Given the description of an element on the screen output the (x, y) to click on. 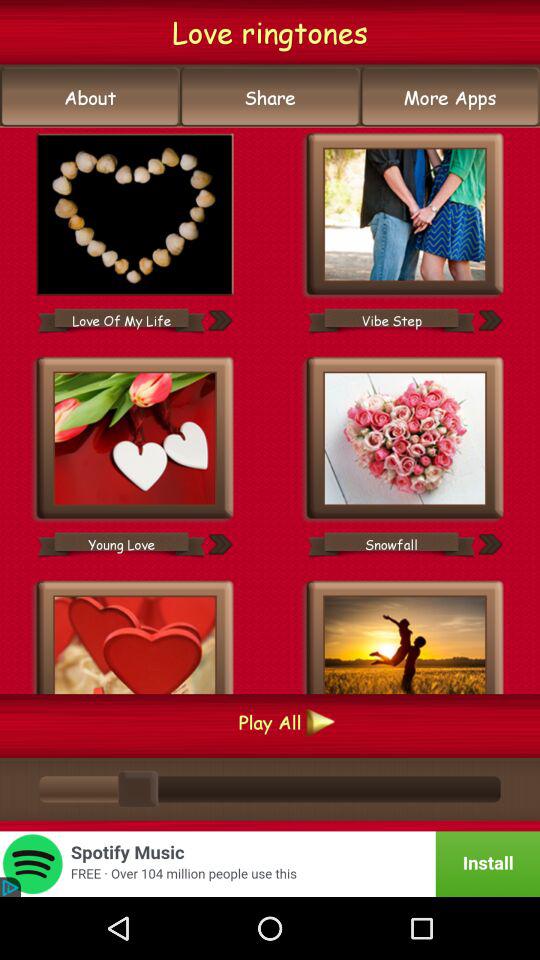
press icon to the right of about button (270, 97)
